Given the description of an element on the screen output the (x, y) to click on. 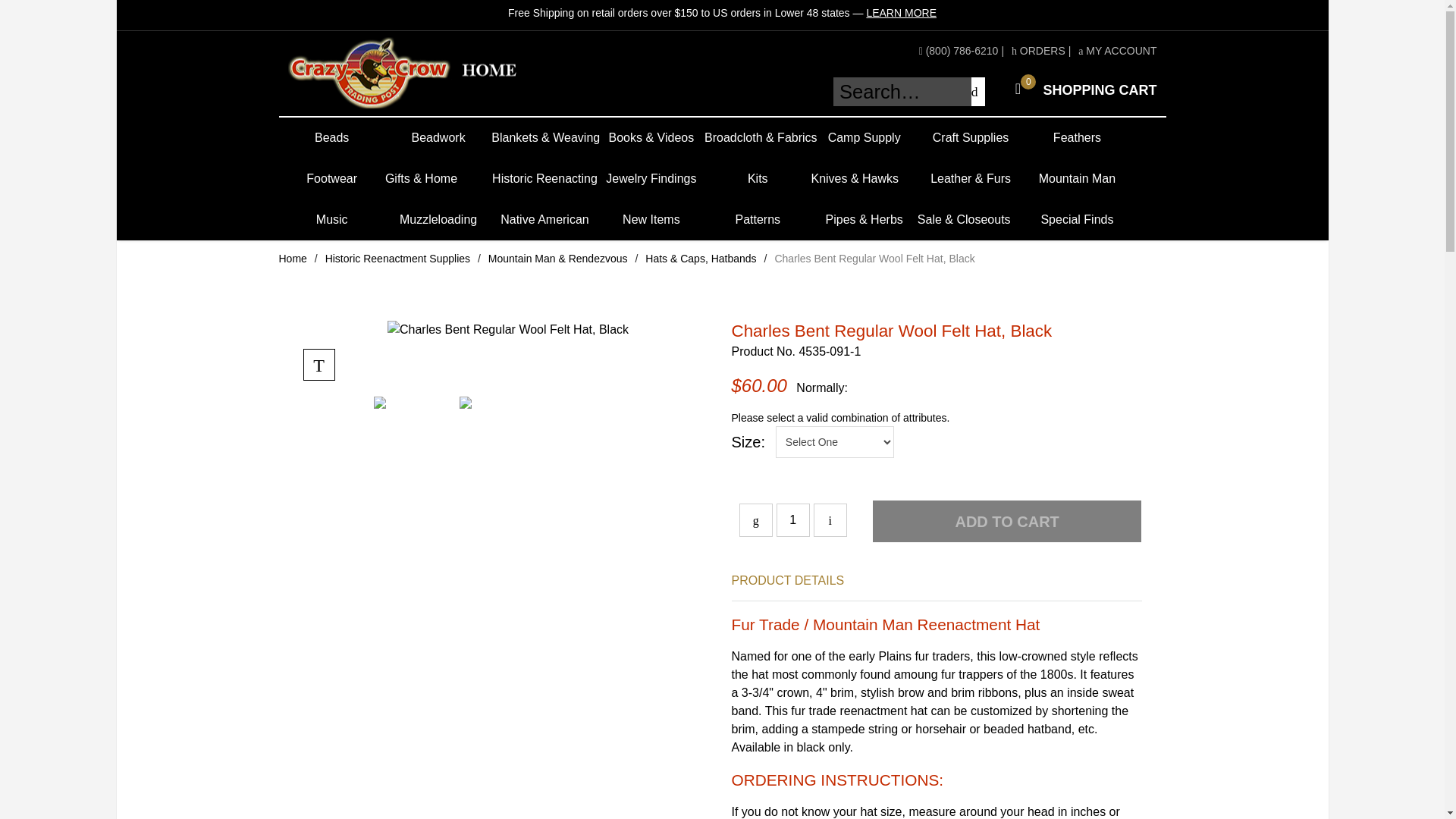
Beads (332, 137)
Beadwork (438, 137)
ORDERS (1038, 50)
Historic Reenactment Supplies (1081, 89)
Home (397, 258)
Crazy Crow Trading Post (293, 258)
1 (427, 73)
MY ACCOUNT (792, 520)
Charles Bent Regular Wool Felt Hat, Black (1117, 50)
